Given the description of an element on the screen output the (x, y) to click on. 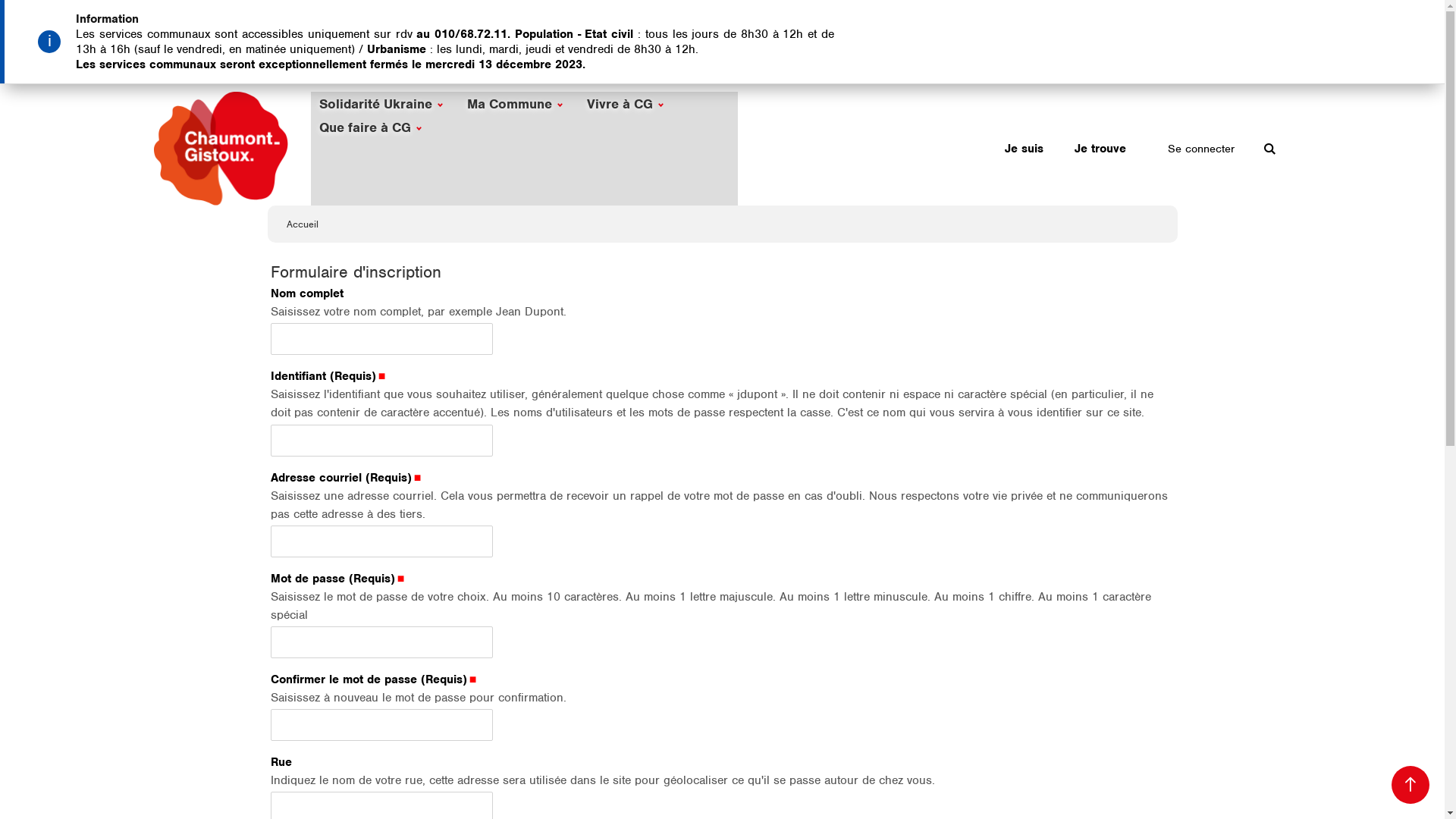
Ma Commune Element type: text (514, 103)
Chaumont-Gistoux Element type: hover (220, 148)
Aller au contenu. Element type: text (758, 112)
Je trouve Element type: text (1099, 148)
Accueil Element type: text (302, 223)
Je suis Element type: text (1023, 148)
Chercher Element type: text (1269, 148)
Se connecter Element type: text (1201, 148)
Chaumont-Gistoux Element type: hover (231, 197)
